Given the description of an element on the screen output the (x, y) to click on. 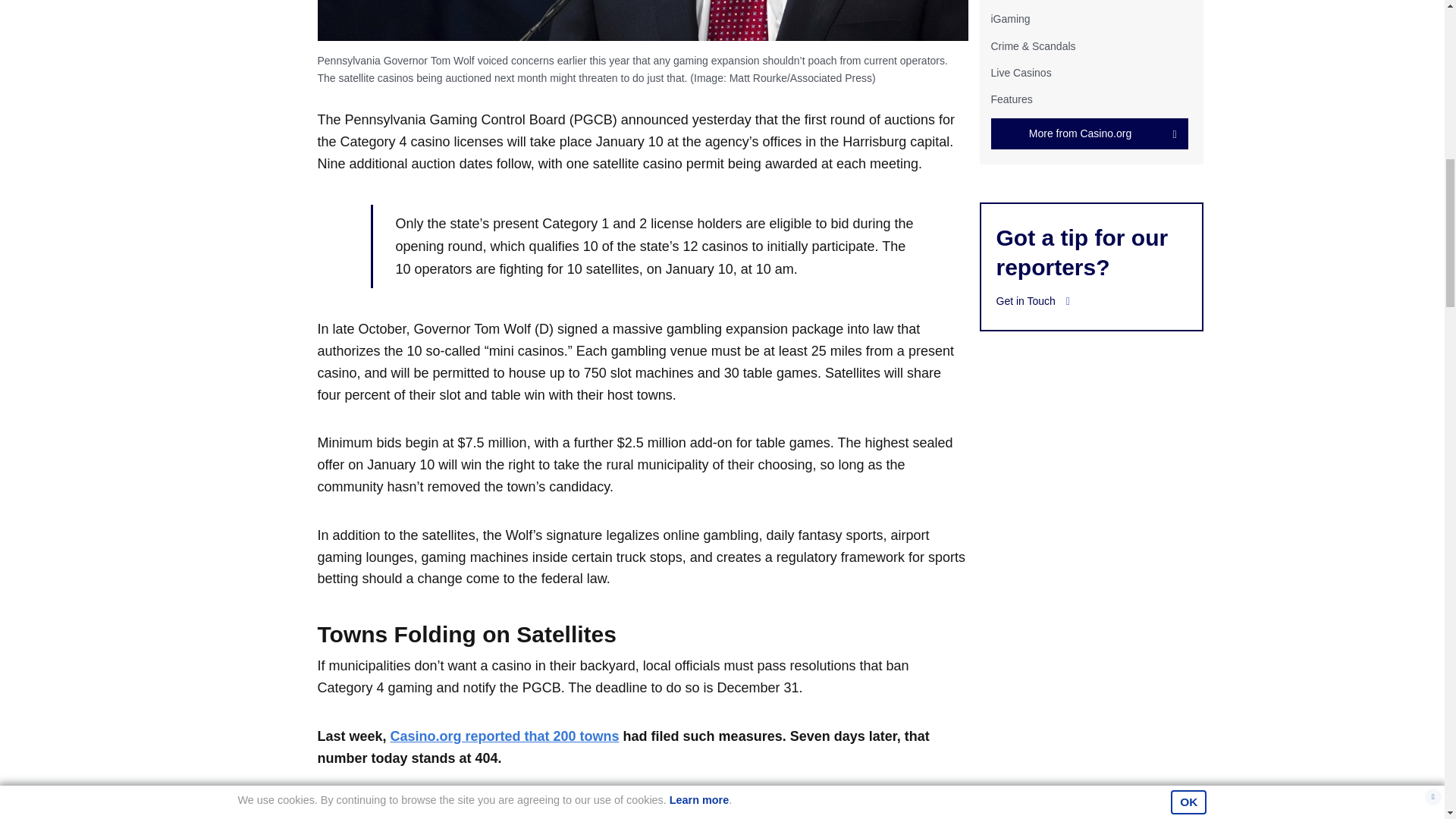
Casino.org reported that 200 towns (505, 735)
iGaming (1009, 19)
Features (1011, 99)
Live Casinos (1020, 72)
